Given the description of an element on the screen output the (x, y) to click on. 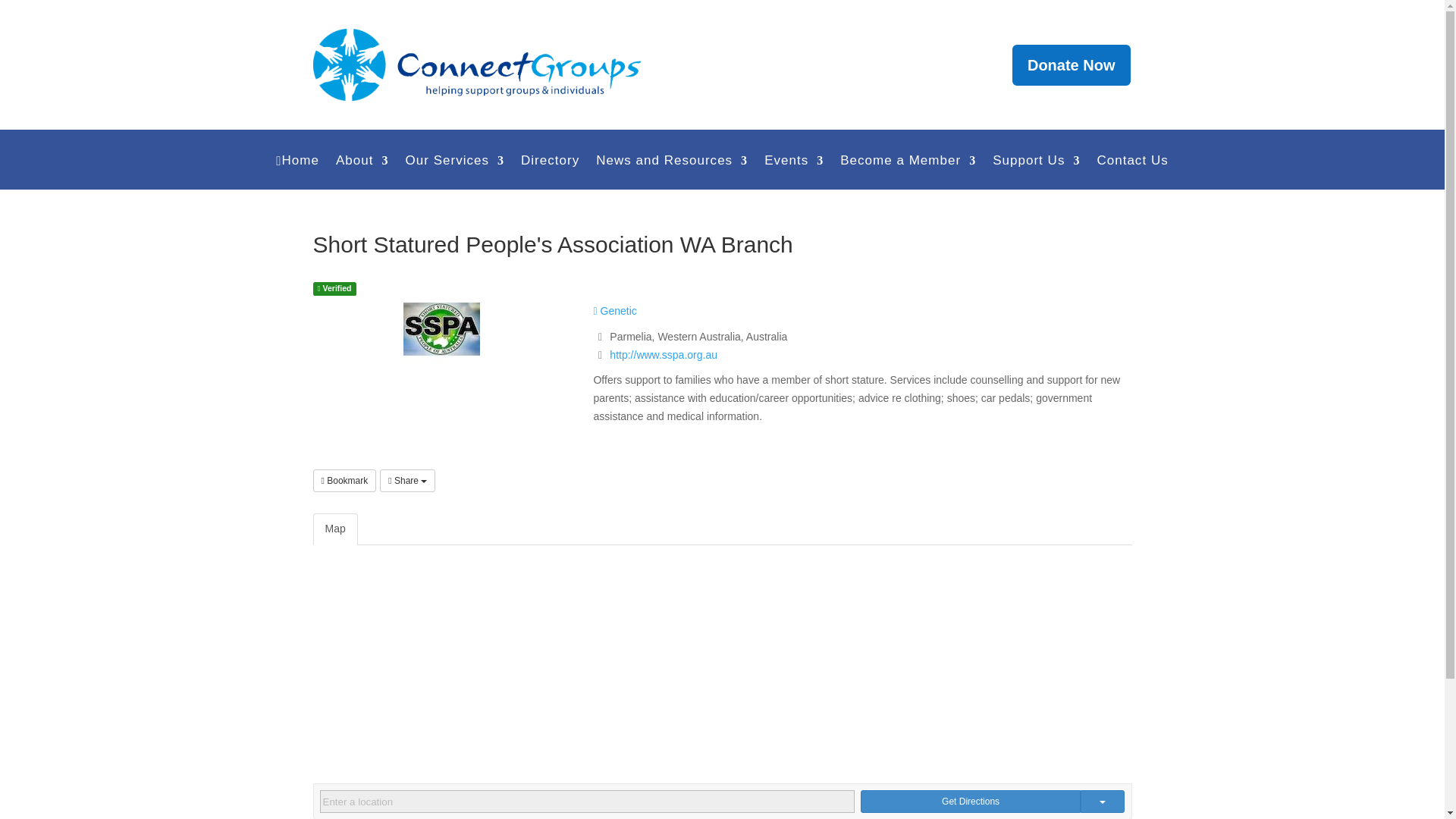
Support Us (1036, 171)
News and Resources (671, 171)
Home (297, 171)
Bookmark this Listing (344, 480)
Become a Member (907, 171)
About (362, 171)
ConnectGroupslogo-TRansp (476, 64)
Donate Now (1071, 64)
This is an owner verified listing. (334, 287)
Directory (550, 171)
Our Services (453, 171)
Events (794, 171)
